Given the description of an element on the screen output the (x, y) to click on. 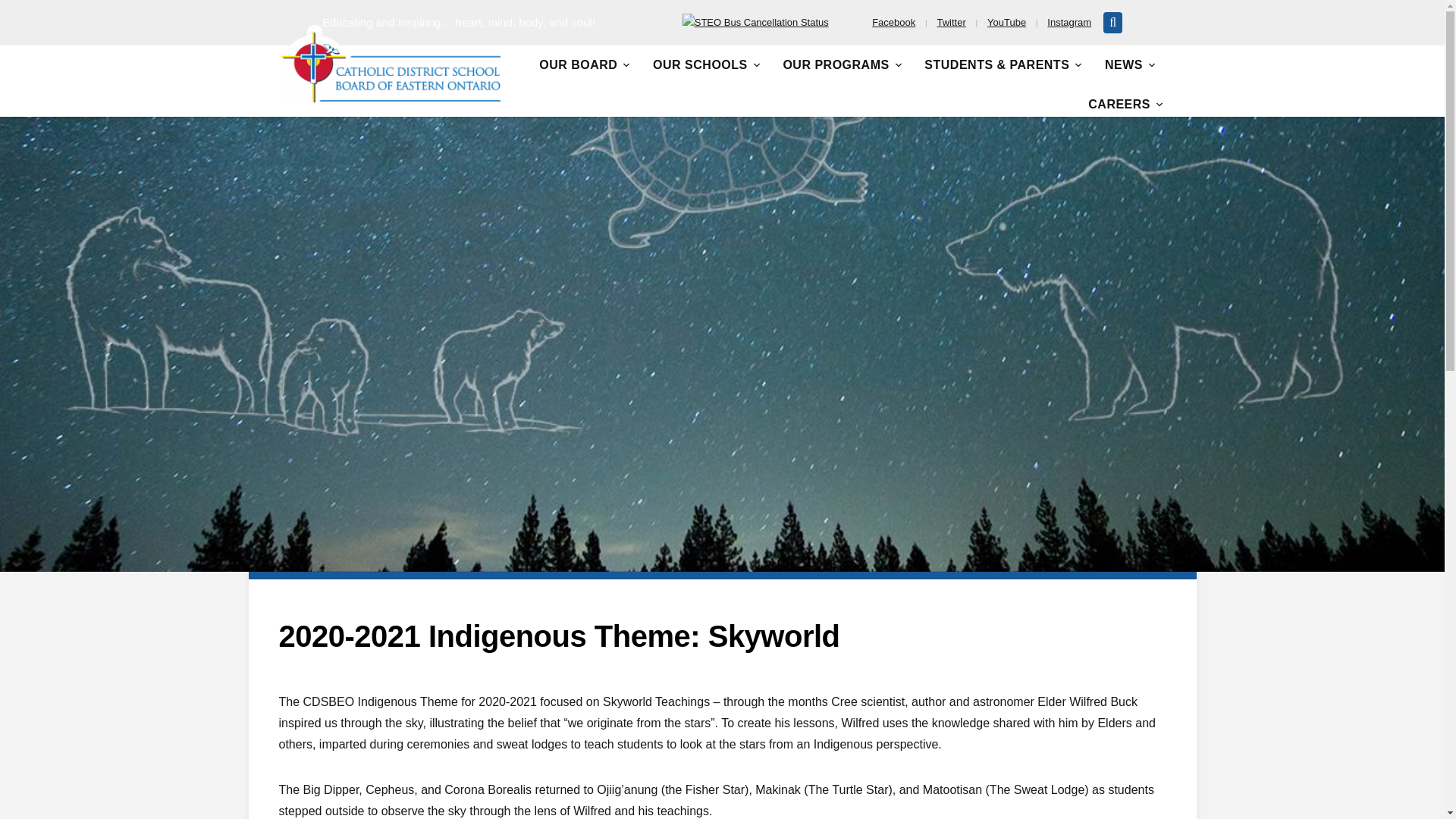
Instagram (1068, 21)
YouTube (1006, 21)
YouTube (1006, 21)
Instagram (1068, 21)
Twitter (951, 21)
Facebook (893, 21)
Twitter (951, 21)
Facebook (893, 21)
